Given the description of an element on the screen output the (x, y) to click on. 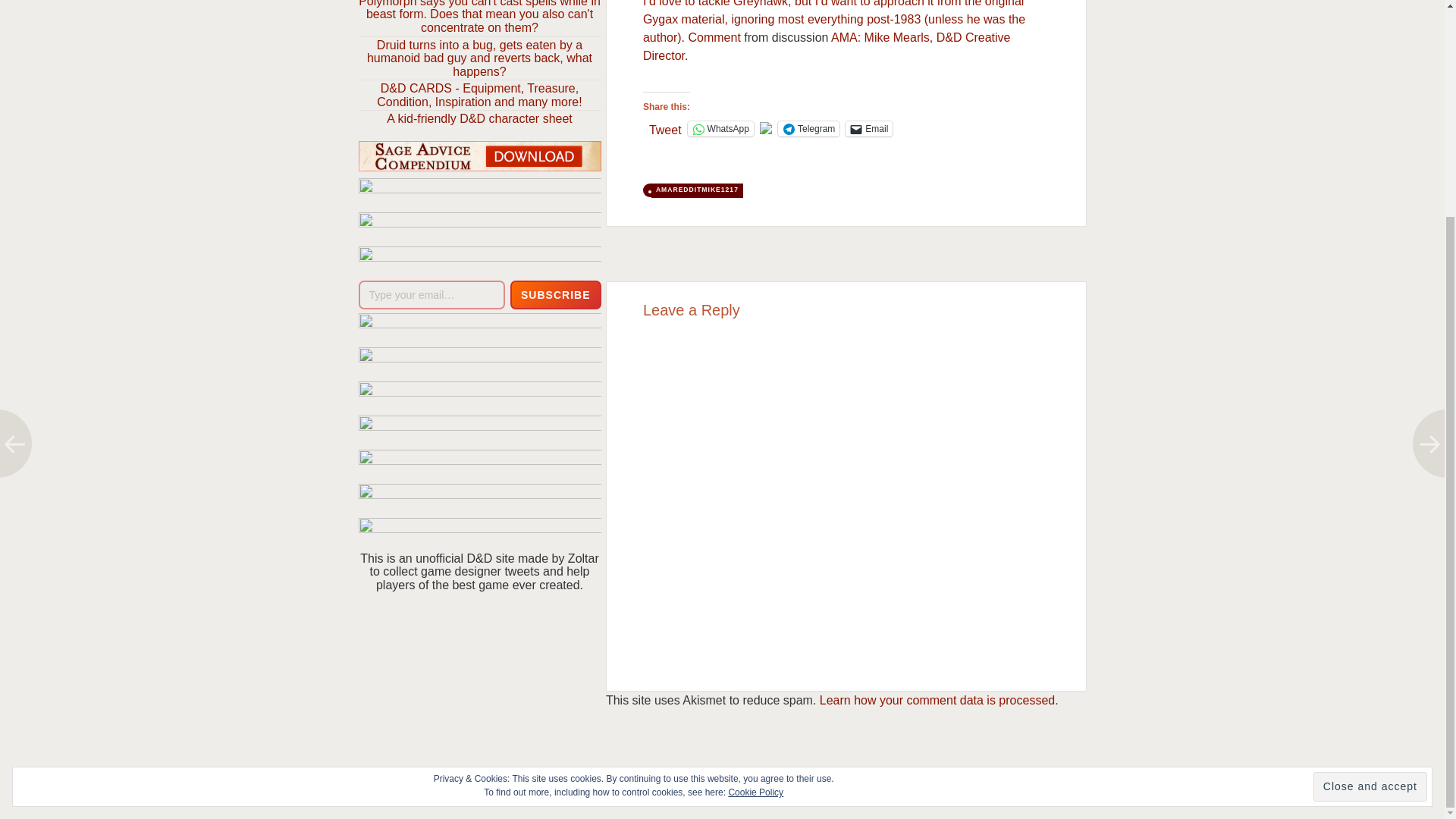
Tweet (665, 128)
Telegram (808, 128)
PROUDLY POWERED BY WORDPRESS (604, 772)
Click to share on WhatsApp (720, 128)
Click to share on Telegram (808, 128)
Close and accept (1369, 501)
Comment Form (846, 504)
SUBSCRIBE (555, 294)
